Given the description of an element on the screen output the (x, y) to click on. 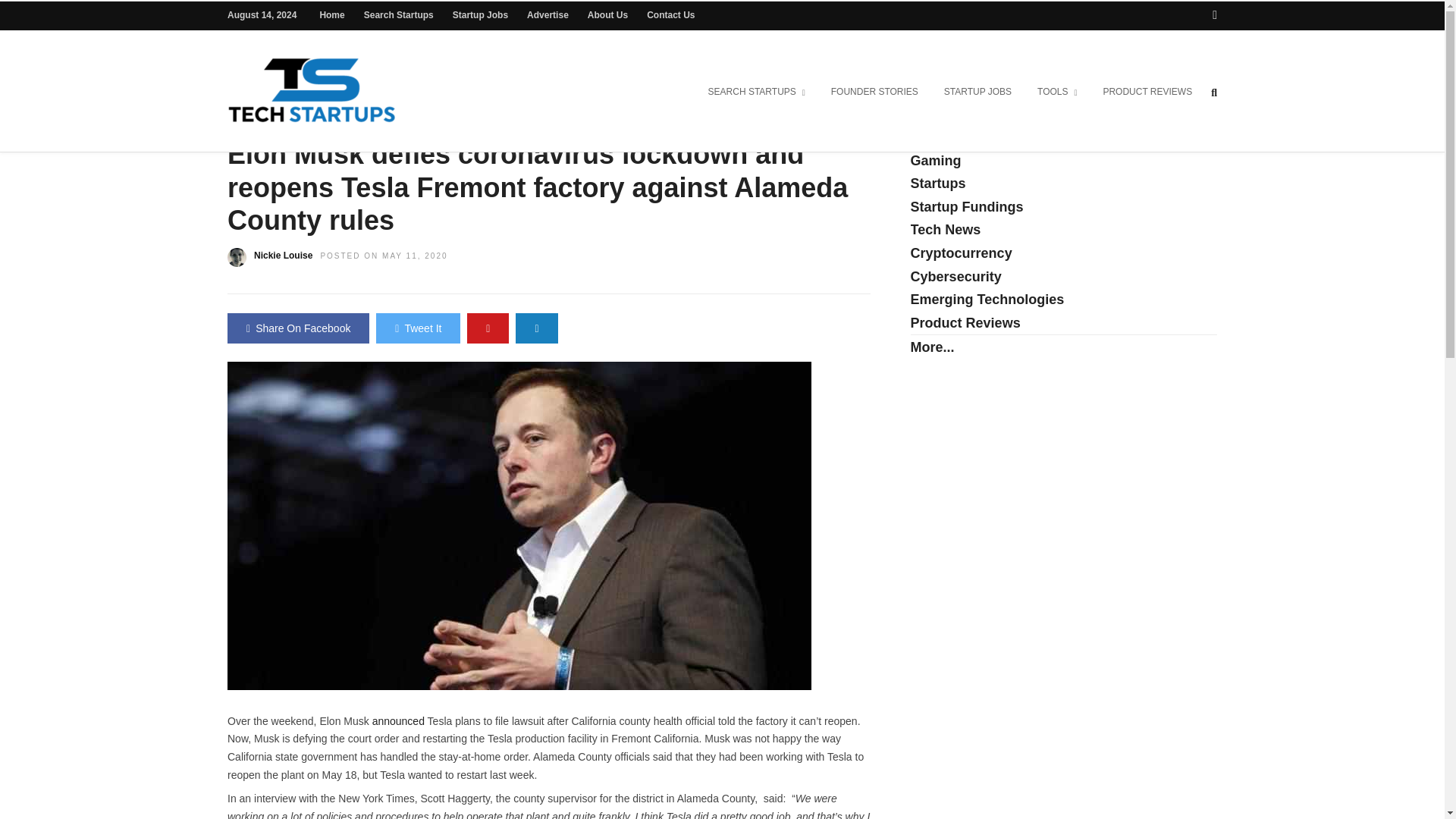
Startup Jobs (480, 14)
PRODUCT REVIEWS (1147, 92)
TRANSPORTATION (597, 122)
Contact Us (670, 14)
Tweet It (417, 327)
Share by Email (536, 327)
announced (400, 720)
Share On Facebook (298, 327)
STARTUP JOBS (978, 92)
TOOLS (1057, 92)
